Given the description of an element on the screen output the (x, y) to click on. 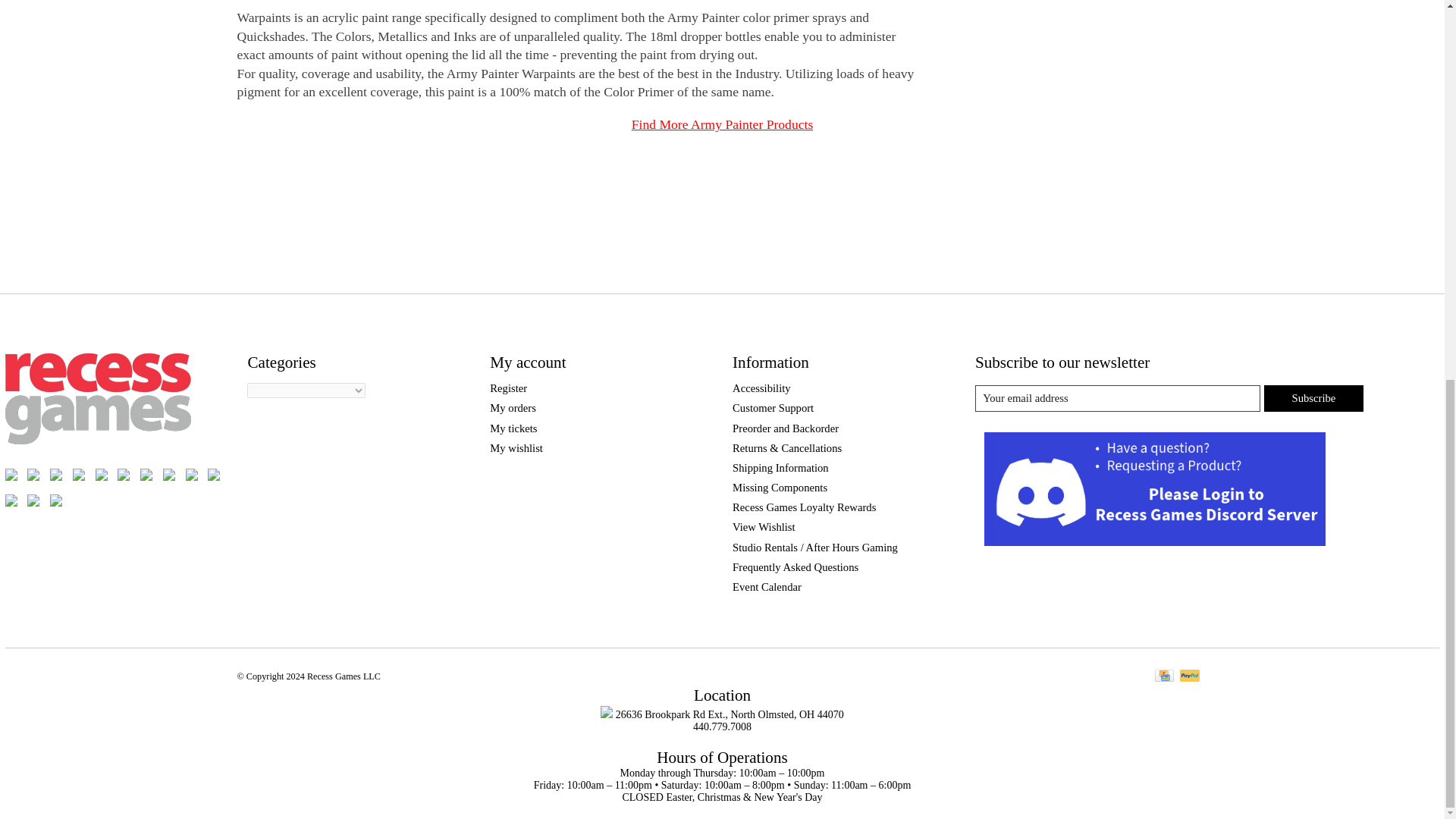
Customer Support (772, 408)
Register (508, 387)
Find More Army Painter Products (721, 124)
My tickets (513, 428)
My orders (512, 408)
Accessibility (761, 387)
Preorder and Backorder (785, 428)
My wishlist (516, 448)
